Given the description of an element on the screen output the (x, y) to click on. 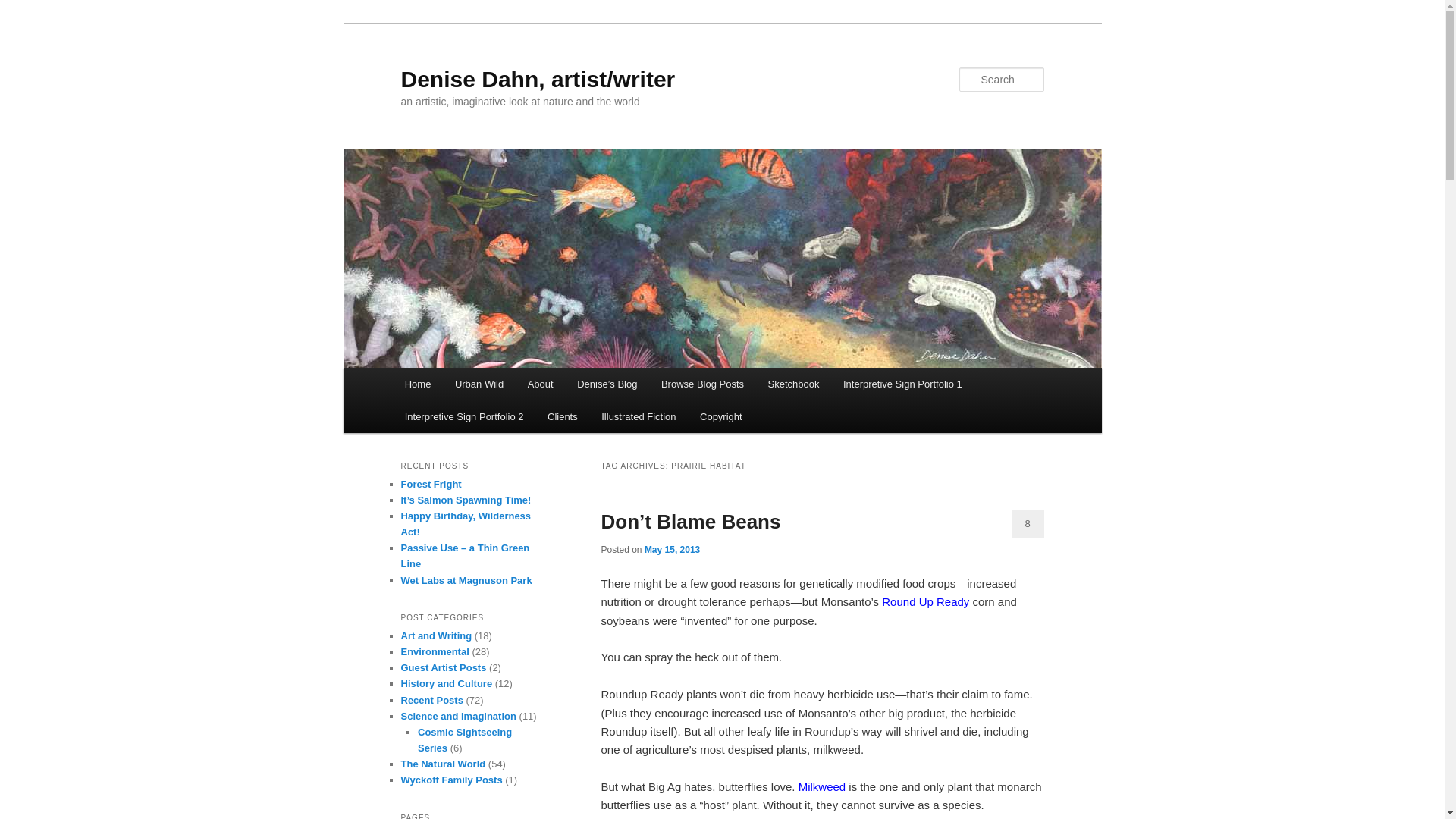
11:00 am (672, 549)
Sketchbook (793, 383)
Browse Blog Posts (702, 383)
About (539, 383)
Urban Wild (478, 383)
Interpretive Sign Portfolio 2 (464, 416)
Interpretive Sign Portfolio 1 (902, 383)
Home (417, 383)
Search (24, 8)
